Given the description of an element on the screen output the (x, y) to click on. 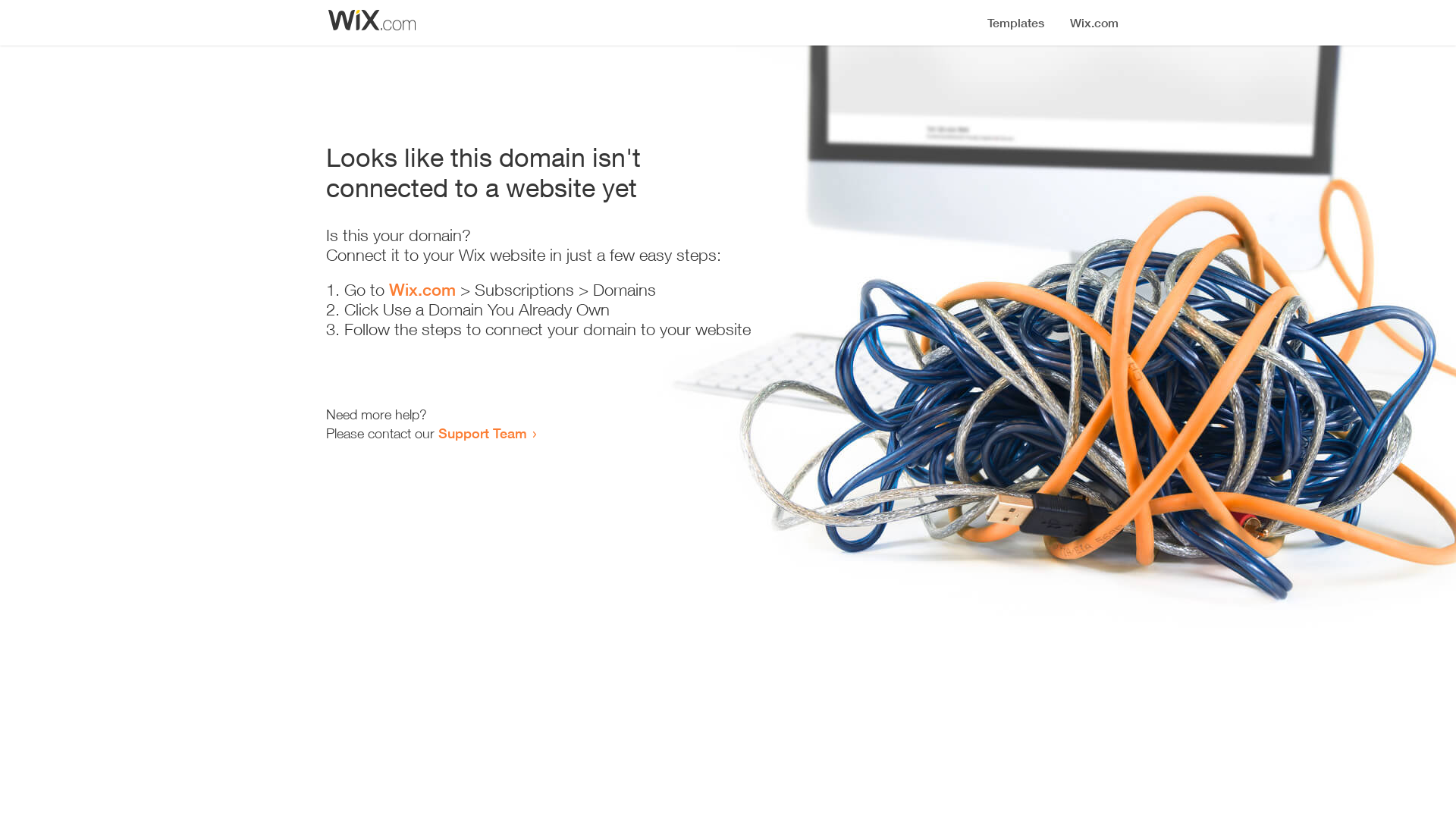
Support Team Element type: text (482, 432)
Wix.com Element type: text (422, 289)
